Given the description of an element on the screen output the (x, y) to click on. 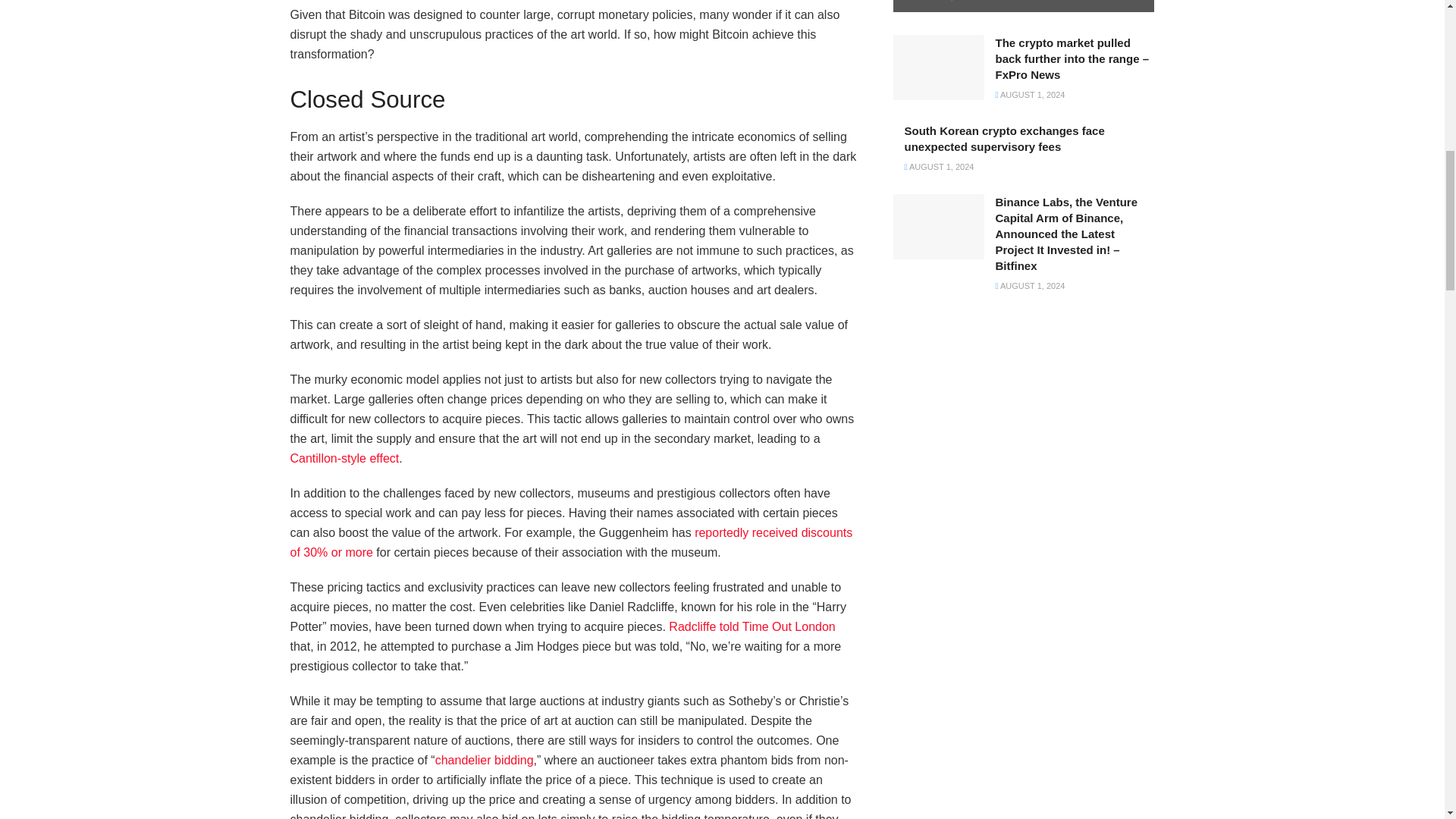
Cantillon-style effect (343, 458)
